Given the description of an element on the screen output the (x, y) to click on. 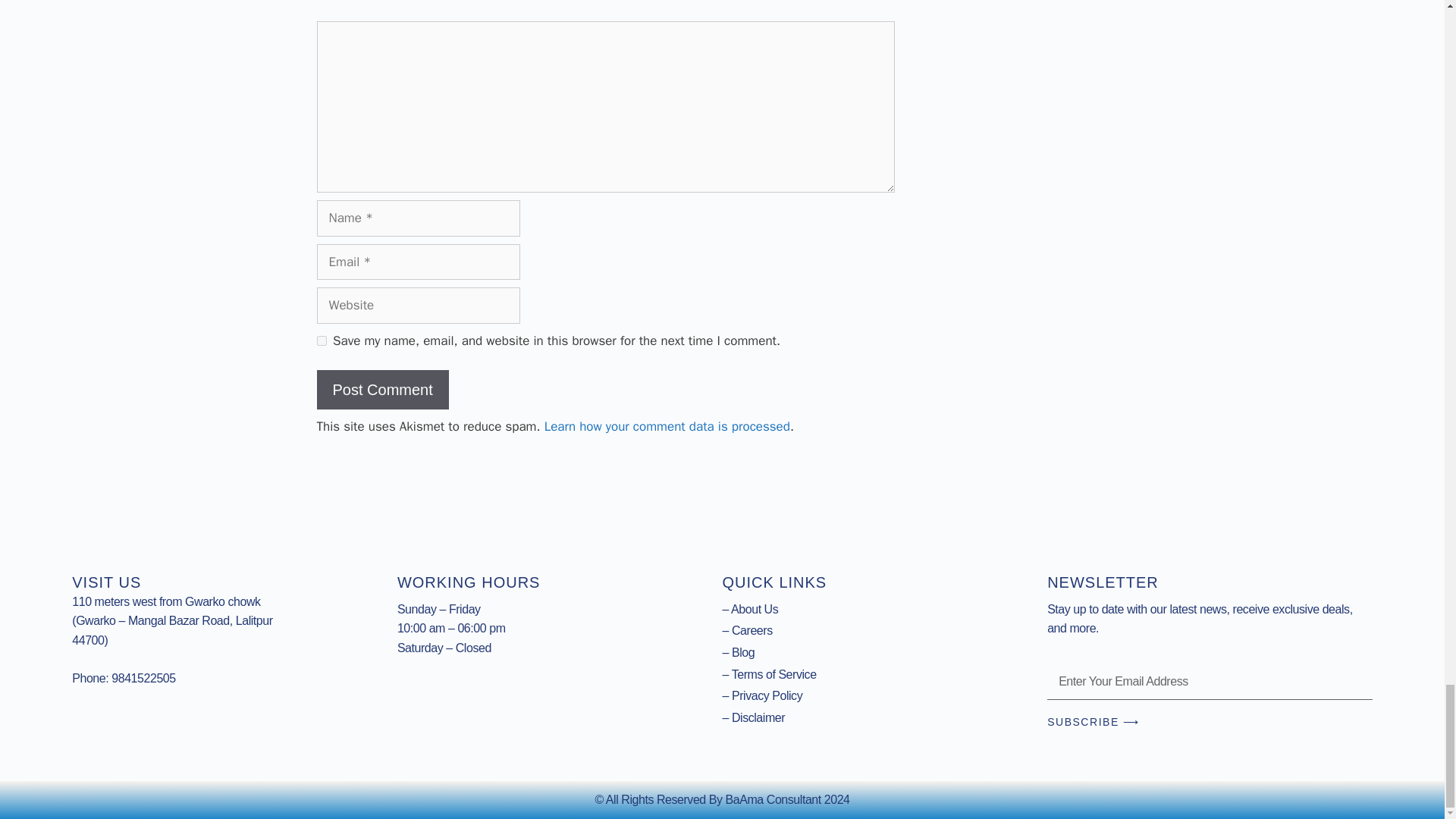
Post Comment (382, 389)
yes (321, 340)
Post Comment (382, 389)
Learn how your comment data is processed (667, 426)
